Given the description of an element on the screen output the (x, y) to click on. 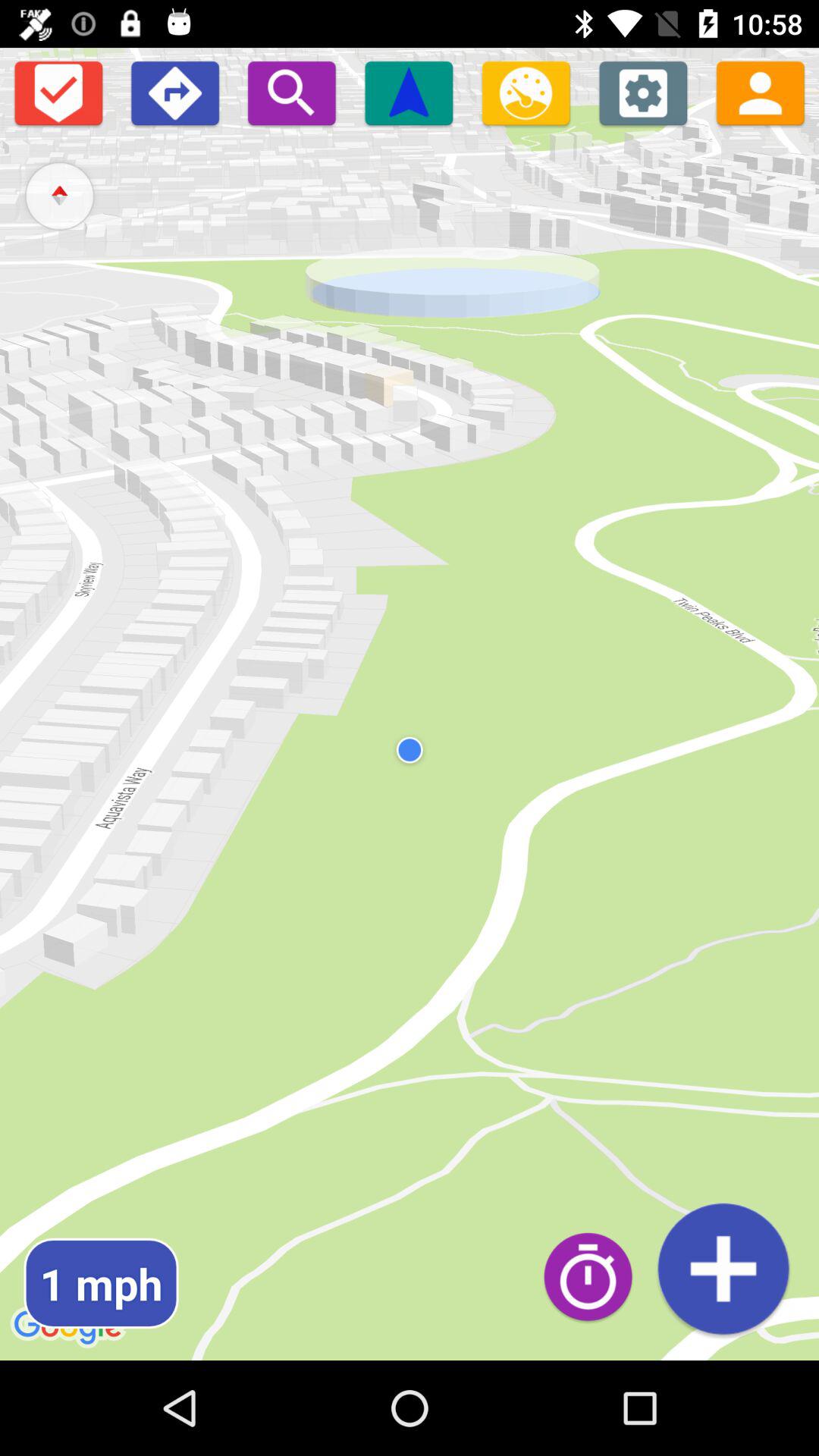
adjust speed (525, 92)
